Given the description of an element on the screen output the (x, y) to click on. 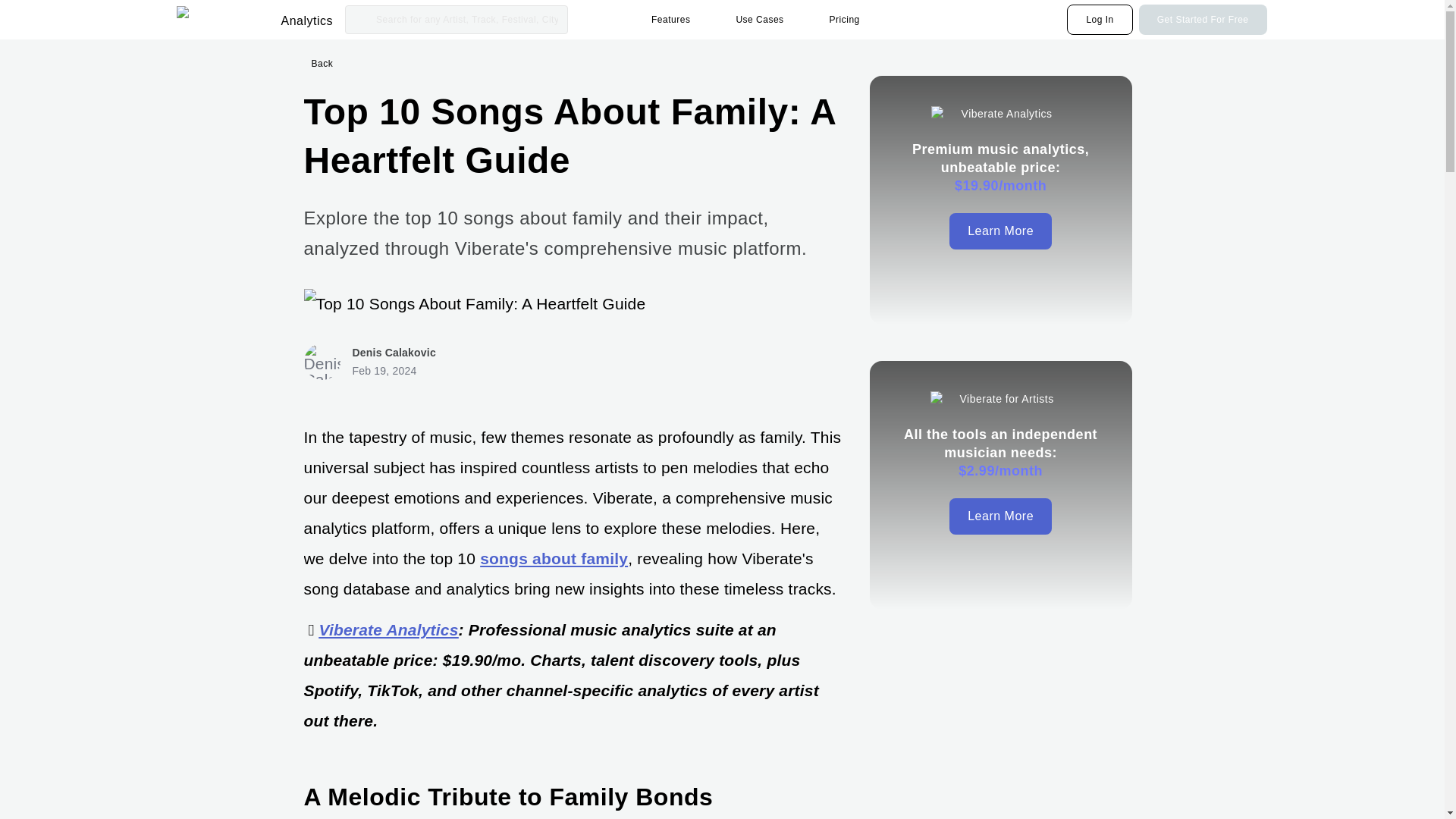
Use Cases (763, 19)
Features (674, 19)
Log In (1099, 19)
Get Started For Free (1202, 19)
Viberate (225, 19)
